Given the description of an element on the screen output the (x, y) to click on. 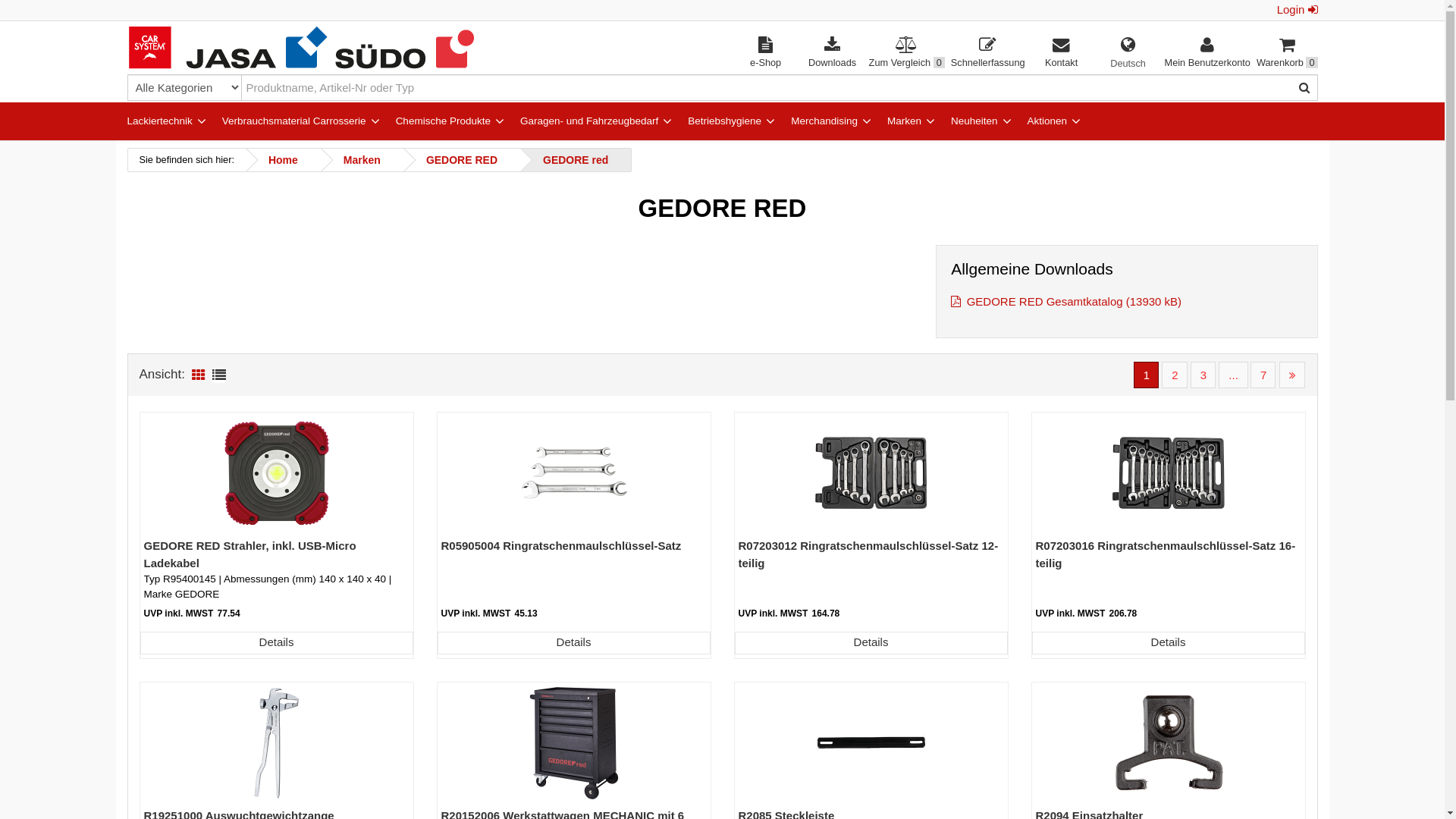
Zum Vergleich 0 Element type: text (906, 52)
Warenkorb 0 Element type: text (1286, 52)
GEDORE RED Strahler, inkl. USB-Micro Ladekabel Element type: text (250, 554)
Deutsch Element type: text (1128, 63)
Mein Benutzerkonto Element type: text (1207, 52)
R19251000 Auswuchtgewichtzange Element type: hover (276, 743)
2 Element type: text (1173, 374)
Login Element type: text (1297, 9)
GEDORE RED Element type: text (461, 159)
Garagen- und Fahrzeugbedarf Element type: text (583, 120)
Kontakt Element type: text (1061, 52)
R2094 Einsatzhalter Element type: hover (1168, 743)
Chemische Produkte Element type: text (437, 120)
Aktionen Element type: text (1041, 120)
Lackiertechnik Element type: text (153, 120)
Schnellerfassung Element type: text (987, 52)
Details Element type: text (870, 642)
1 Element type: text (1145, 374)
7 Element type: text (1262, 374)
R2085 Steckleiste Element type: hover (871, 743)
3 Element type: text (1202, 374)
e-Shop Element type: text (765, 53)
Marken Element type: text (898, 120)
GEDORE red Element type: text (575, 159)
Details Element type: text (1167, 642)
GEDORE RED Strahler, inkl. USB-Micro Ladekabel  Element type: hover (276, 473)
Downloads Element type: text (832, 52)
Verbrauchsmaterial Carrosserie Element type: text (288, 120)
Marken Element type: text (361, 159)
GEDORE RED Gesamtkatalog (13930 kB) Element type: text (1065, 301)
R20152006 Werkstattwagen MECHANIC mit 6 Schubladen Element type: hover (573, 743)
Merchandising Element type: text (818, 120)
Neuheiten Element type: text (968, 120)
Details Element type: text (275, 642)
Details Element type: text (572, 642)
Home Element type: text (283, 159)
Betriebshygiene Element type: text (718, 120)
